Given the description of an element on the screen output the (x, y) to click on. 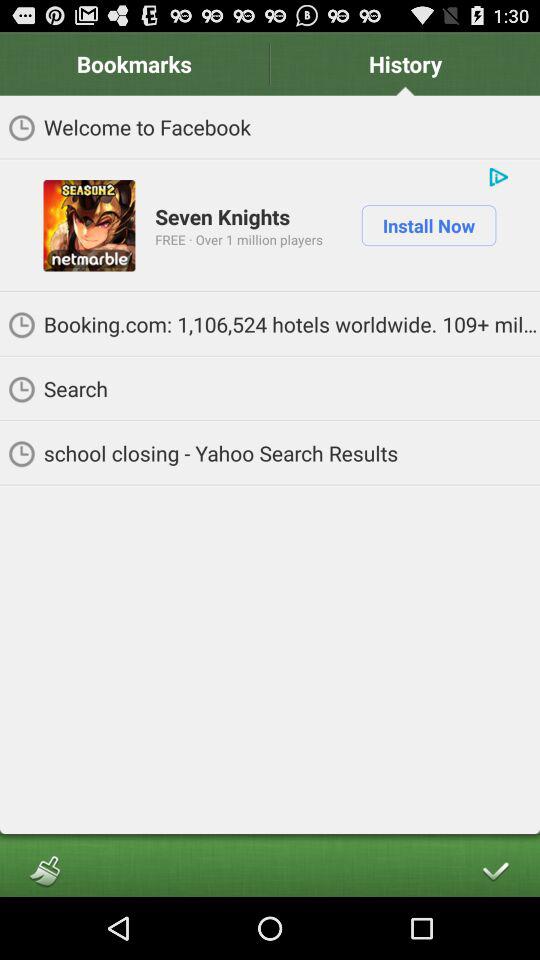
turn on the install now item (428, 225)
